Given the description of an element on the screen output the (x, y) to click on. 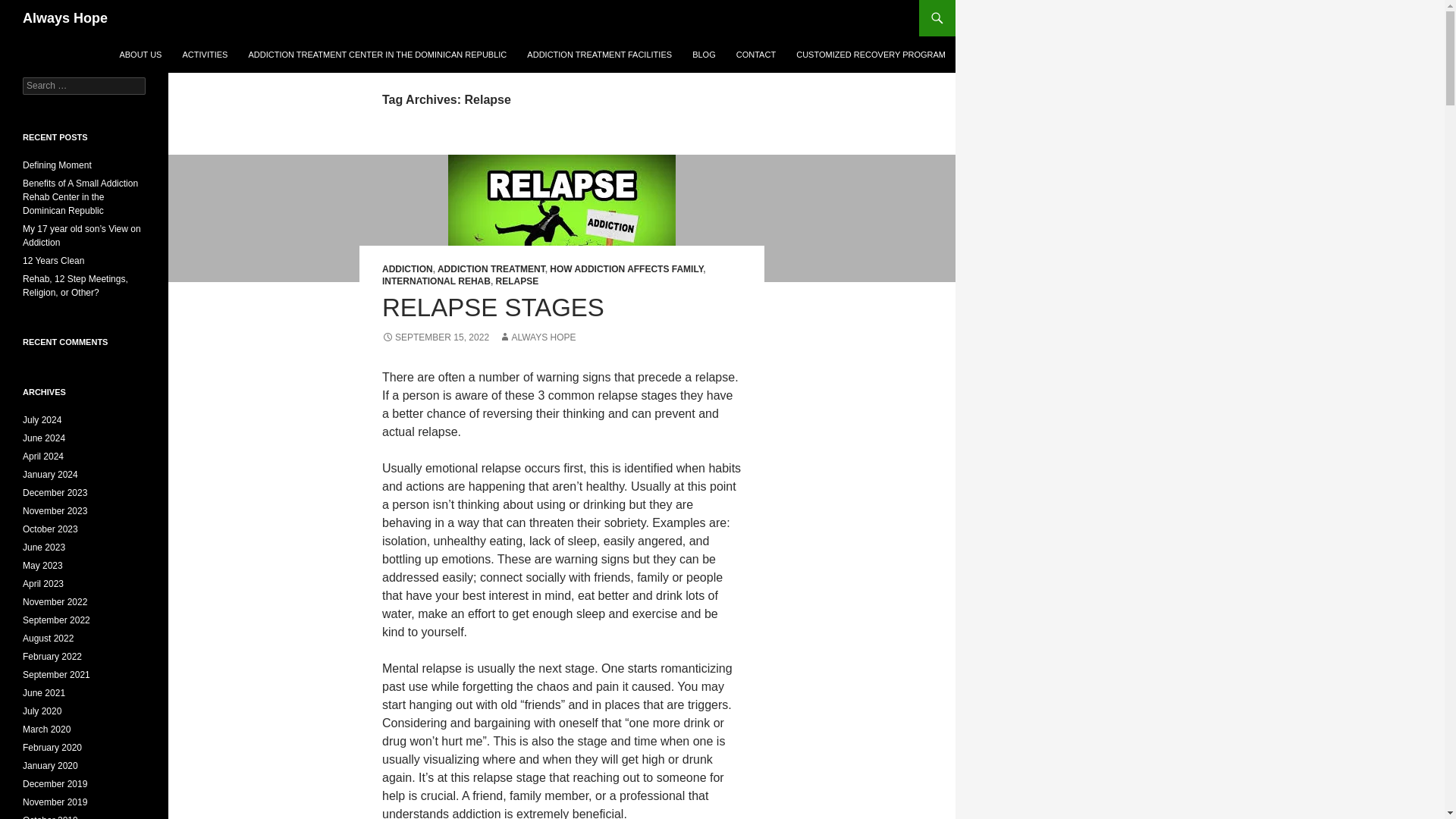
SEPTEMBER 15, 2022 (435, 337)
RELAPSE (517, 281)
ACTIVITIES (204, 54)
CUSTOMIZED RECOVERY PROGRAM (871, 54)
RELAPSE STAGES (492, 307)
ADDICTION TREATMENT CENTER IN THE DOMINICAN REPUBLIC (376, 54)
ADDICTION (406, 268)
Always Hope (65, 18)
ADDICTION TREATMENT FACILITIES (599, 54)
INTERNATIONAL REHAB (435, 281)
HOW ADDICTION AFFECTS FAMILY (626, 268)
ADDICTION TREATMENT (491, 268)
CONTACT (755, 54)
BLOG (703, 54)
